Given the description of an element on the screen output the (x, y) to click on. 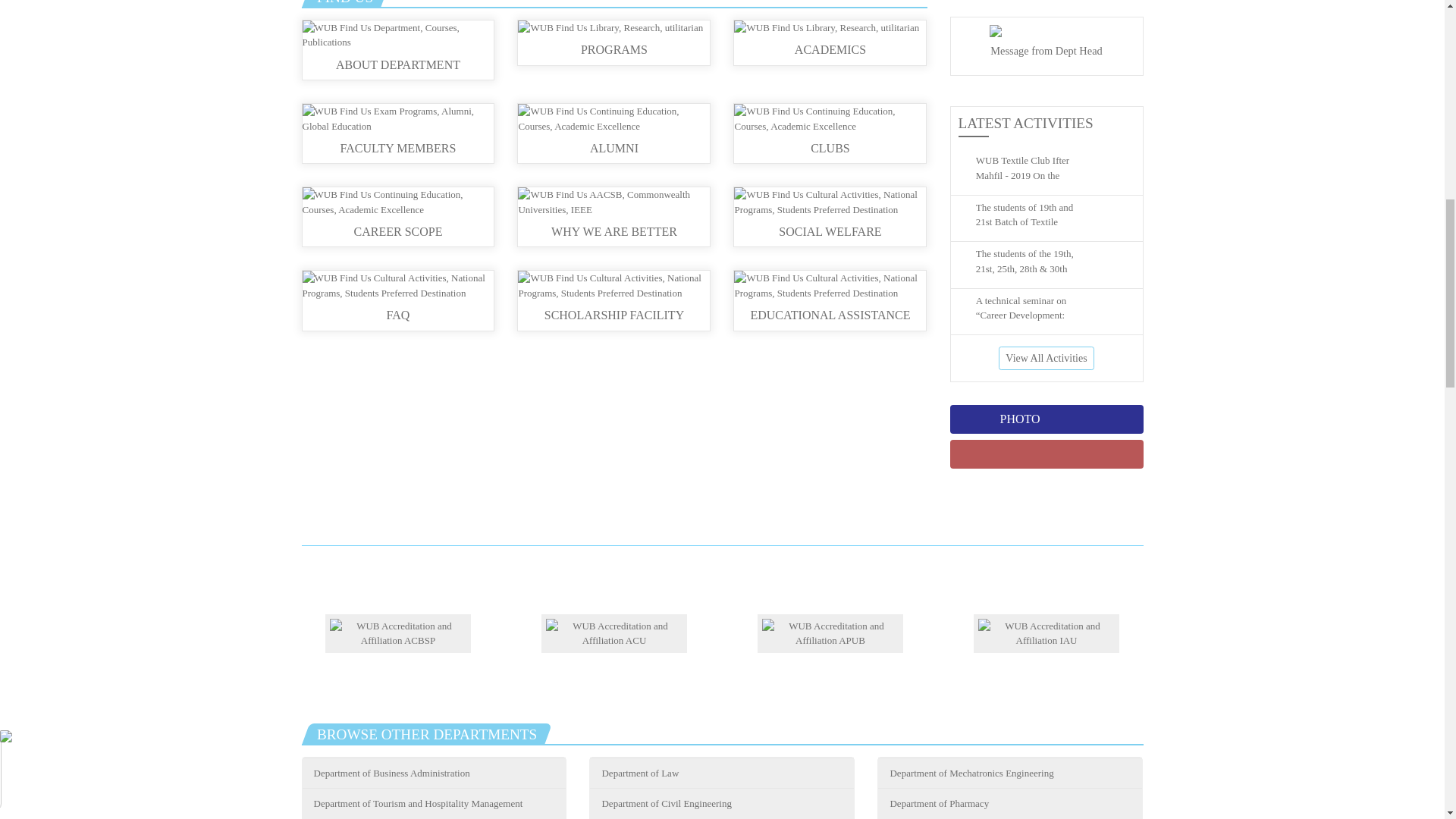
ACADEMICS (829, 41)
ABOUT DEPARTMENT (397, 51)
ALUMNI (614, 135)
PROGRAMS (614, 41)
FACULTY MEMBERS (397, 135)
